Given the description of an element on the screen output the (x, y) to click on. 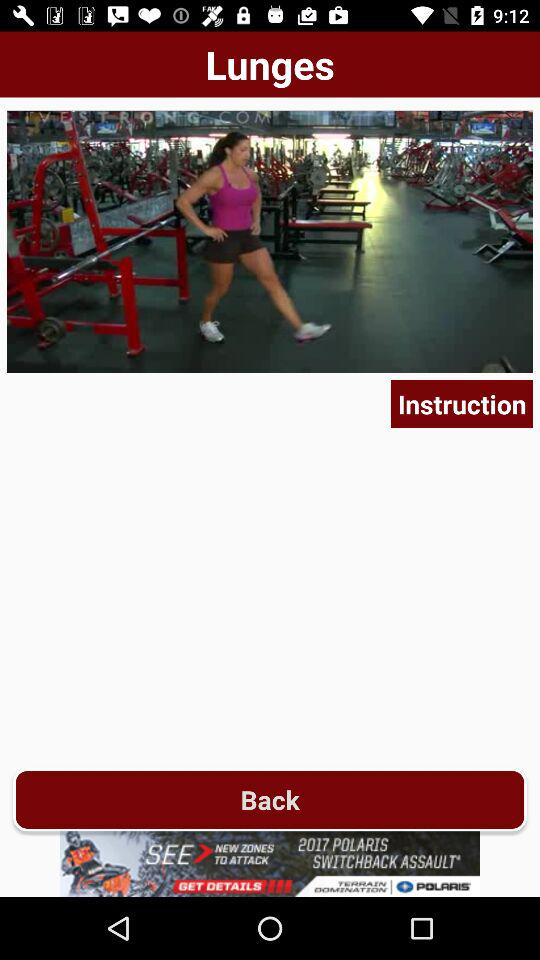
go to advertisement (270, 864)
